Given the description of an element on the screen output the (x, y) to click on. 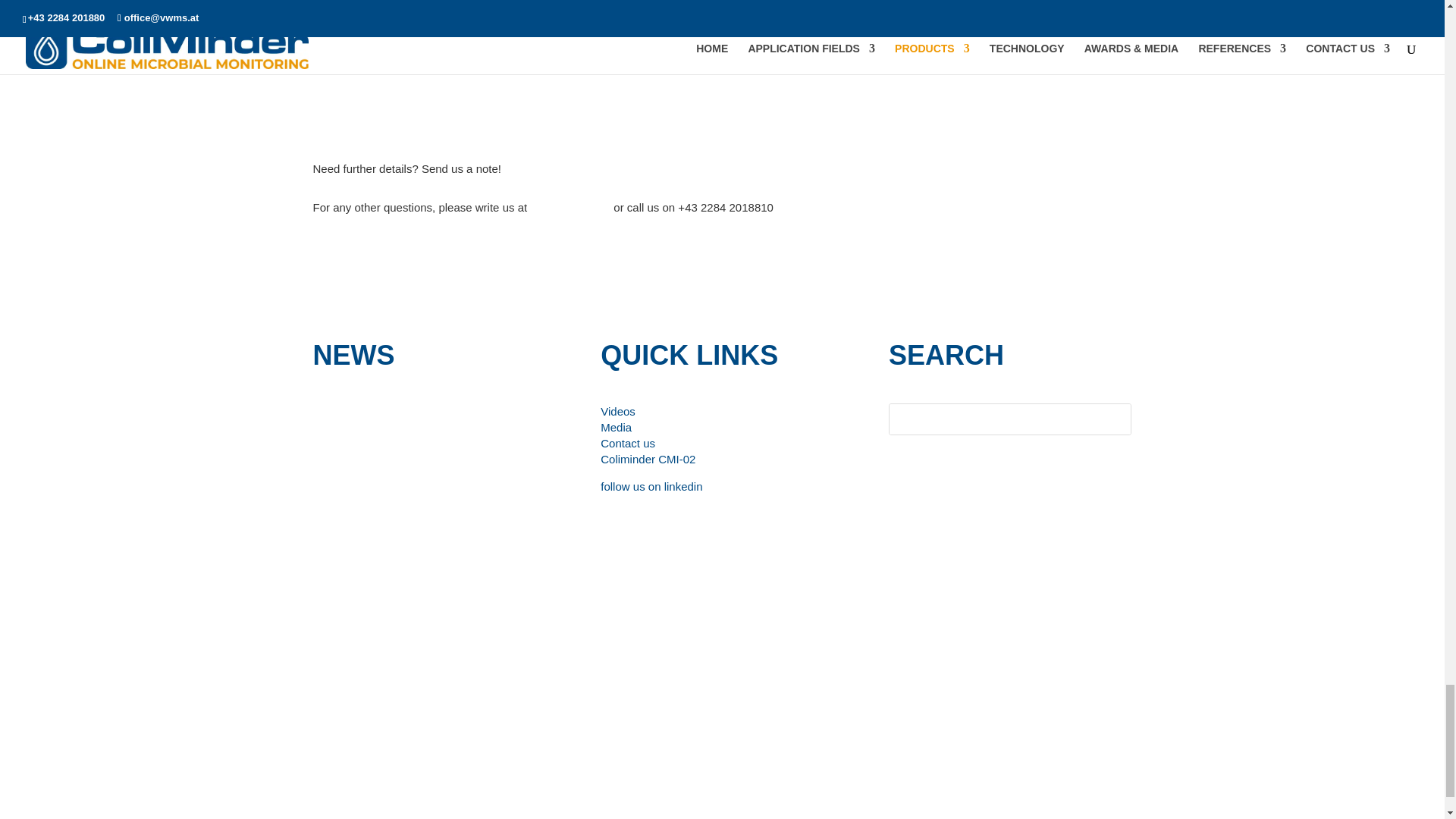
Coliminder CMI-02 (647, 459)
VWMS ACHIEVED ISO9001 CERTIFICATION (463, 414)
Videos (616, 410)
Contact us (627, 442)
follow us on linkedin (650, 486)
Search (1104, 419)
Media (615, 427)
Search (1104, 419)
Search (1104, 419)
